Given the description of an element on the screen output the (x, y) to click on. 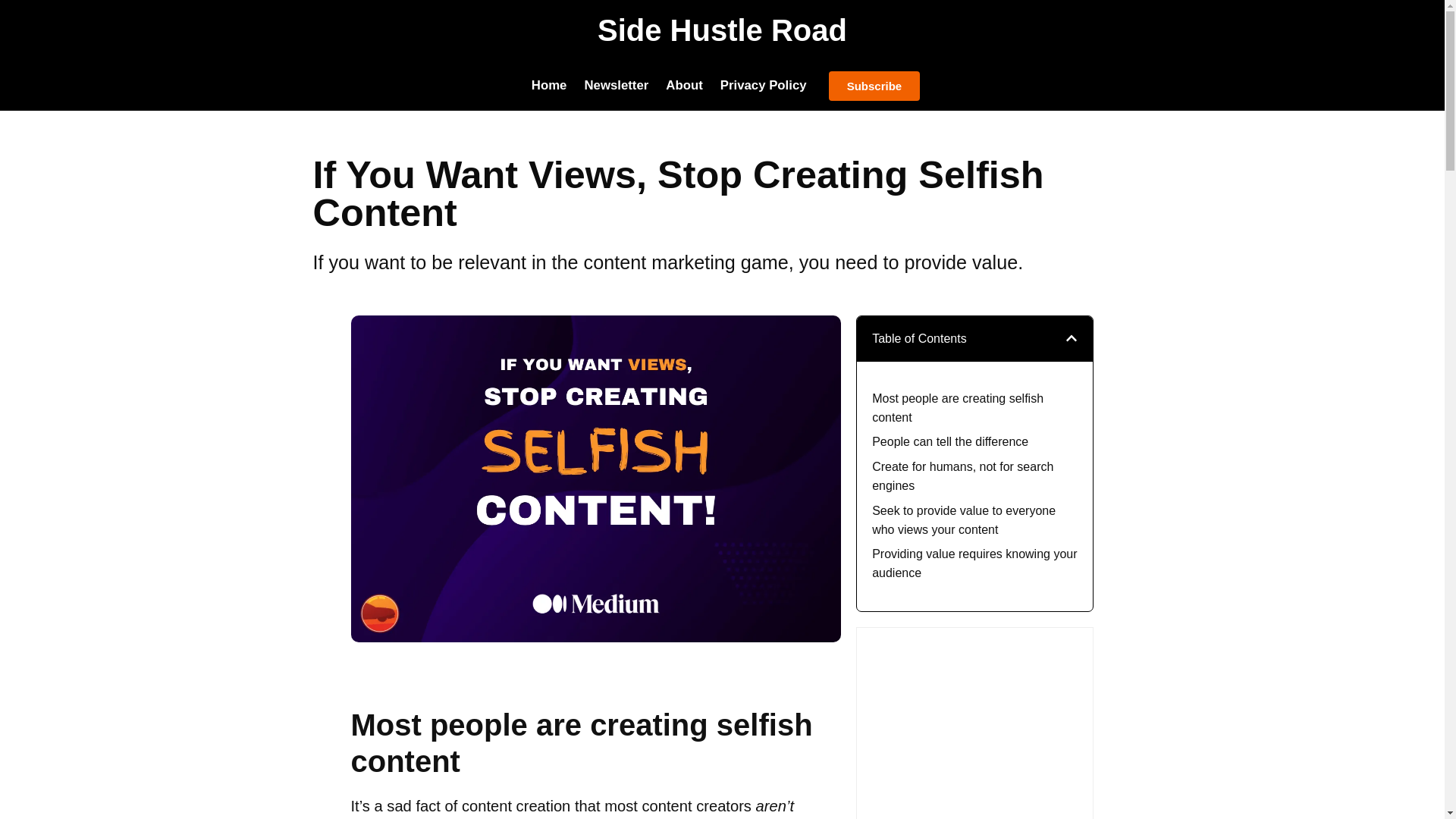
Home (548, 85)
About (684, 85)
Side Hustle Road (721, 29)
People can tell the difference (949, 442)
Seek to provide value to everyone who views your content (974, 520)
Subscribe (874, 85)
Privacy Policy (763, 85)
Create for humans, not for search engines (974, 476)
Newsletter (615, 85)
Providing value requires knowing your audience (974, 564)
Most people are creating selfish content (974, 408)
